Given the description of an element on the screen output the (x, y) to click on. 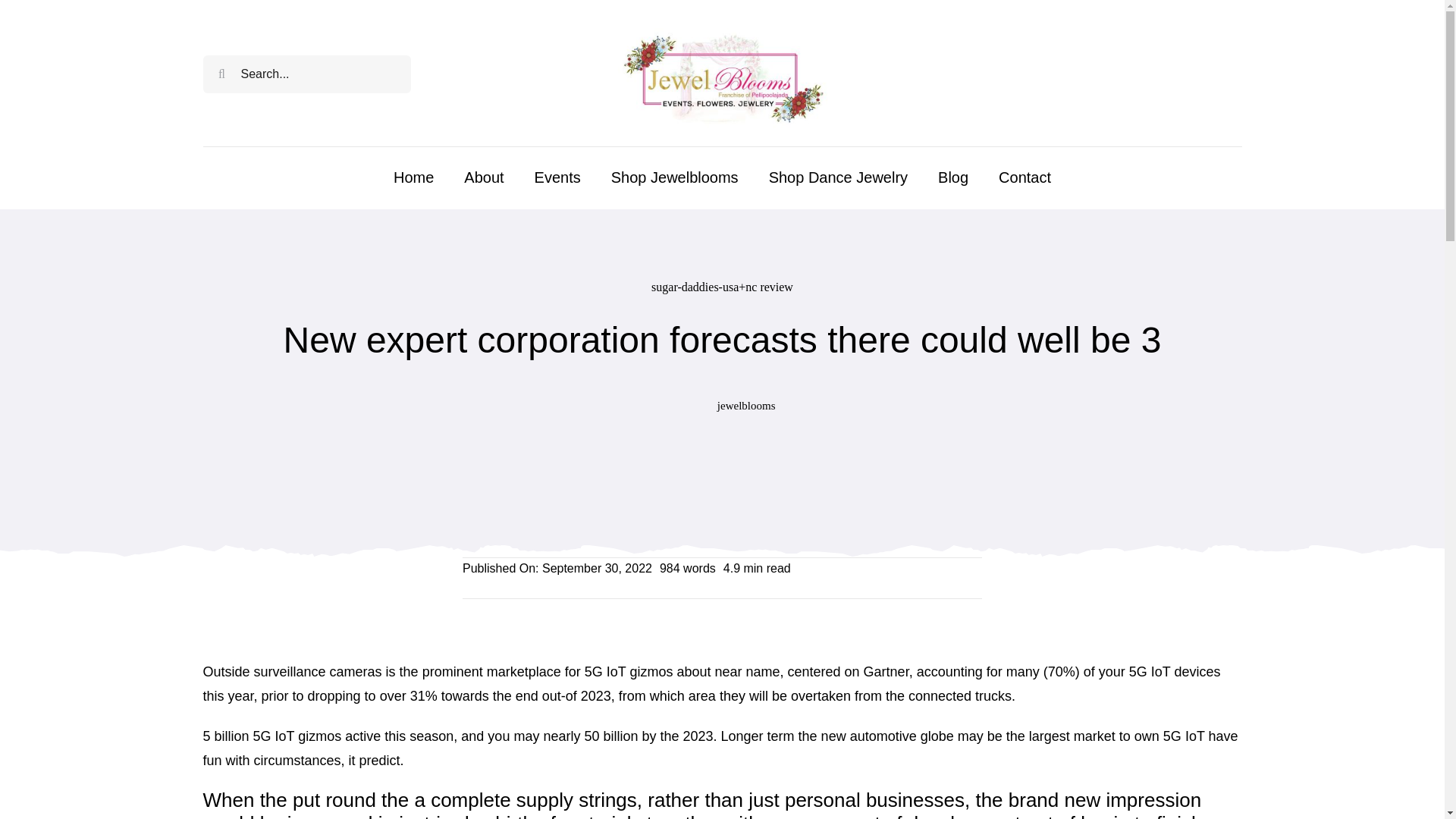
Blog (952, 176)
Events (557, 176)
Shop Jewelblooms (674, 176)
Shop Dance Jewelry (837, 176)
Home (413, 176)
About (483, 176)
Contact (1024, 176)
Log In (1199, 242)
Jewel Bhooms logo (721, 73)
